Given the description of an element on the screen output the (x, y) to click on. 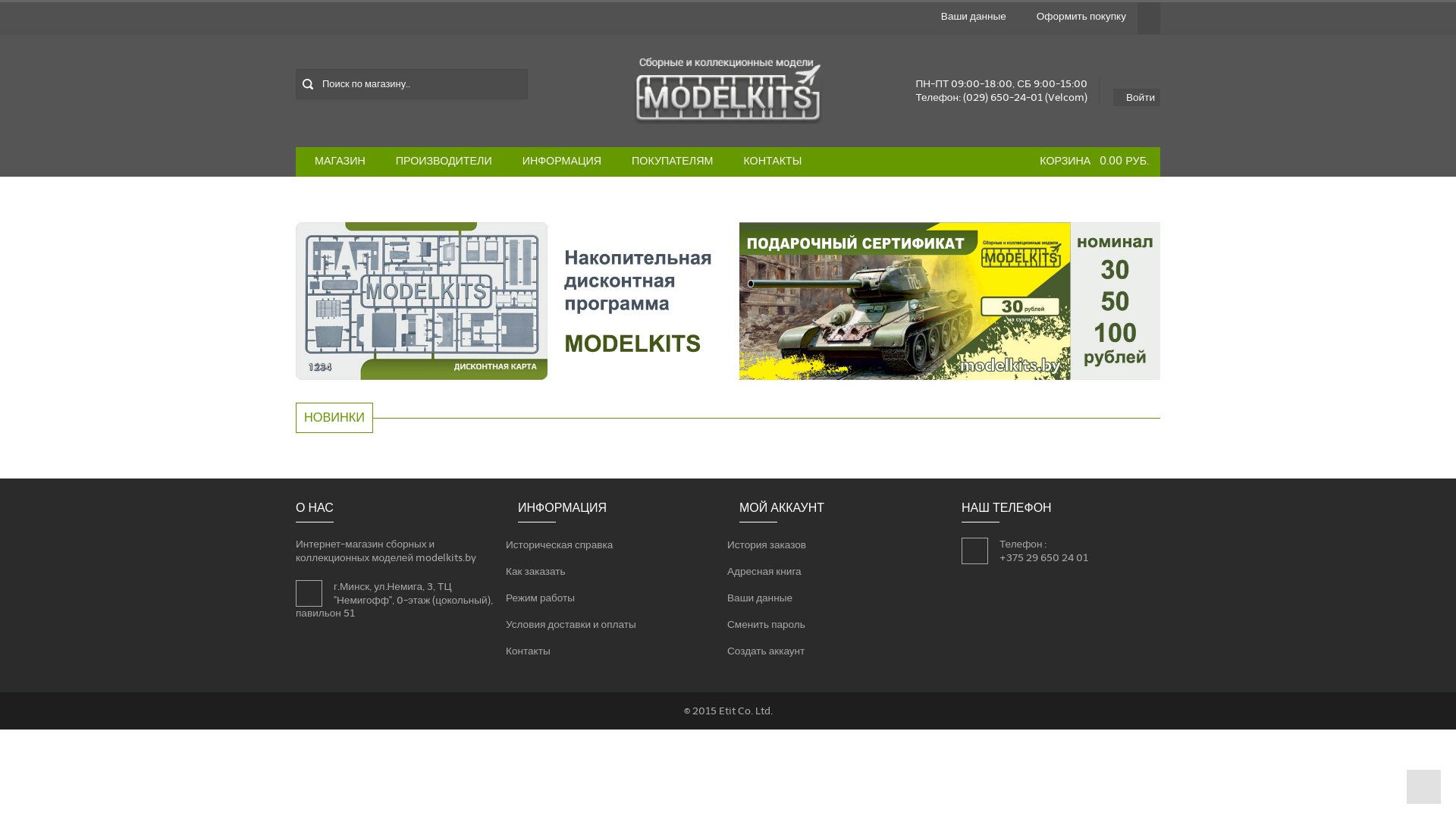
Back to Top Element type: text (1423, 786)
